Given the description of an element on the screen output the (x, y) to click on. 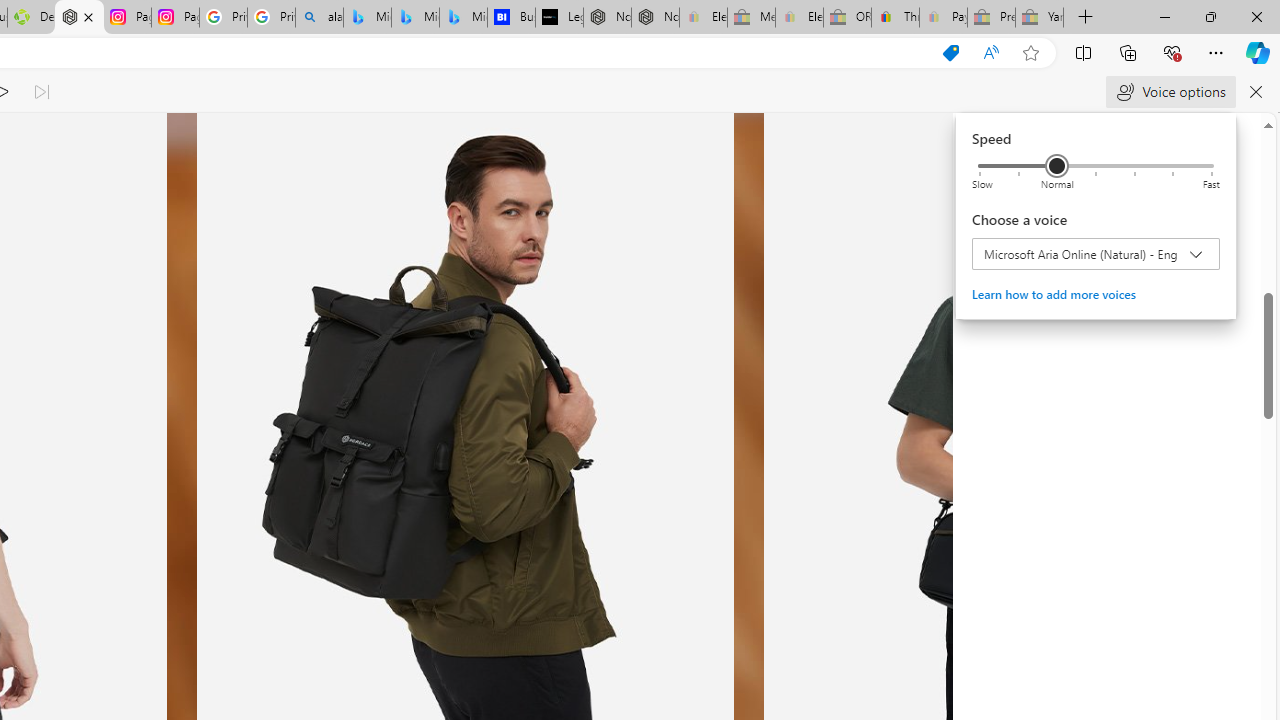
This site has coupons! Shopping in Microsoft Edge (950, 53)
Yard, Garden & Outdoor Living - Sleeping (1039, 17)
Threats and offensive language policy | eBay (895, 17)
Class: flickity-button-icon (868, 436)
Microsoft Bing Travel - Flights from Hong Kong to Bangkok (367, 17)
Microsoft Bing Travel - Shangri-La Hotel Bangkok (463, 17)
